Given the description of an element on the screen output the (x, y) to click on. 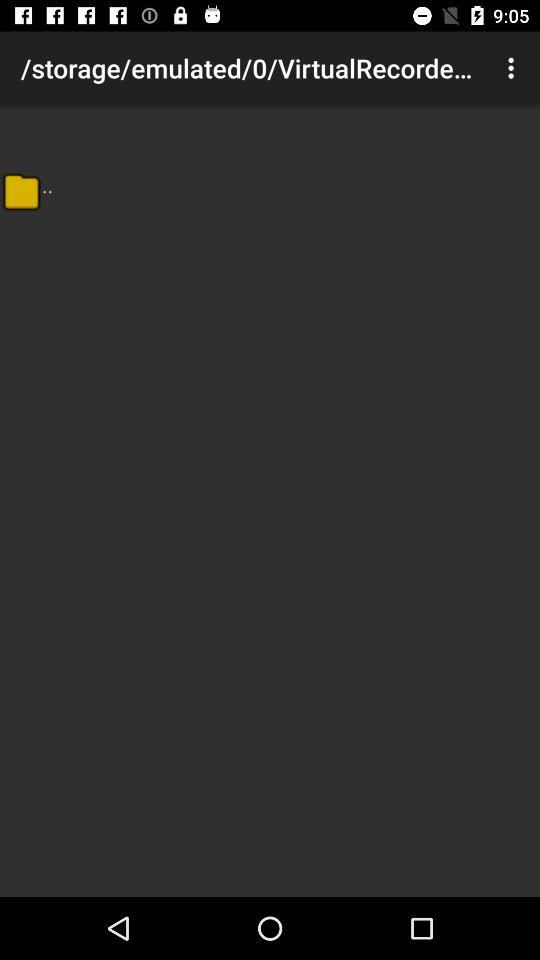
turn on .. (47, 184)
